Given the description of an element on the screen output the (x, y) to click on. 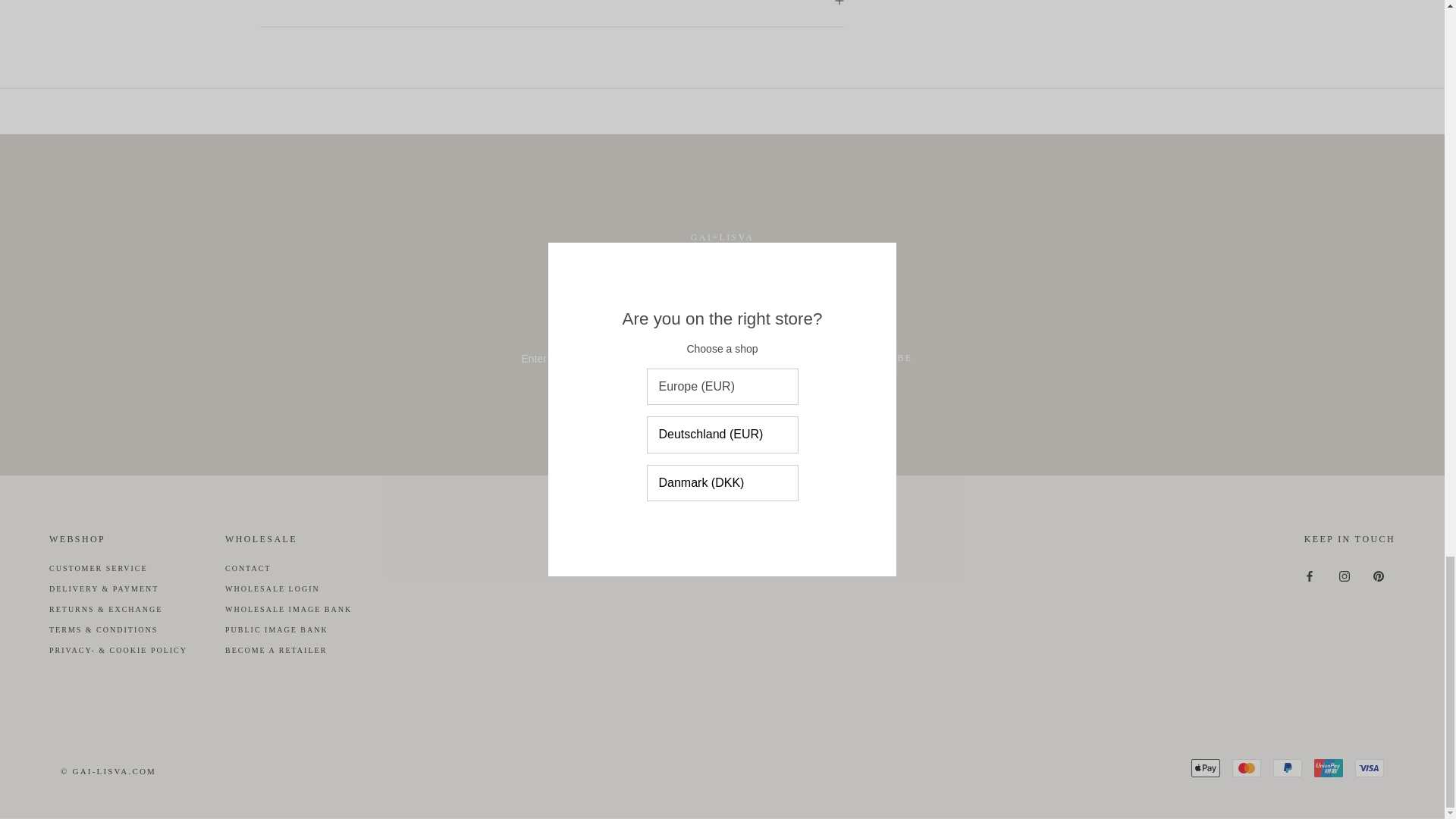
Visa (1369, 768)
Apple Pay (1205, 768)
Mastercard (1245, 768)
Union Pay (1328, 768)
PayPal (1286, 768)
